Given the description of an element on the screen output the (x, y) to click on. 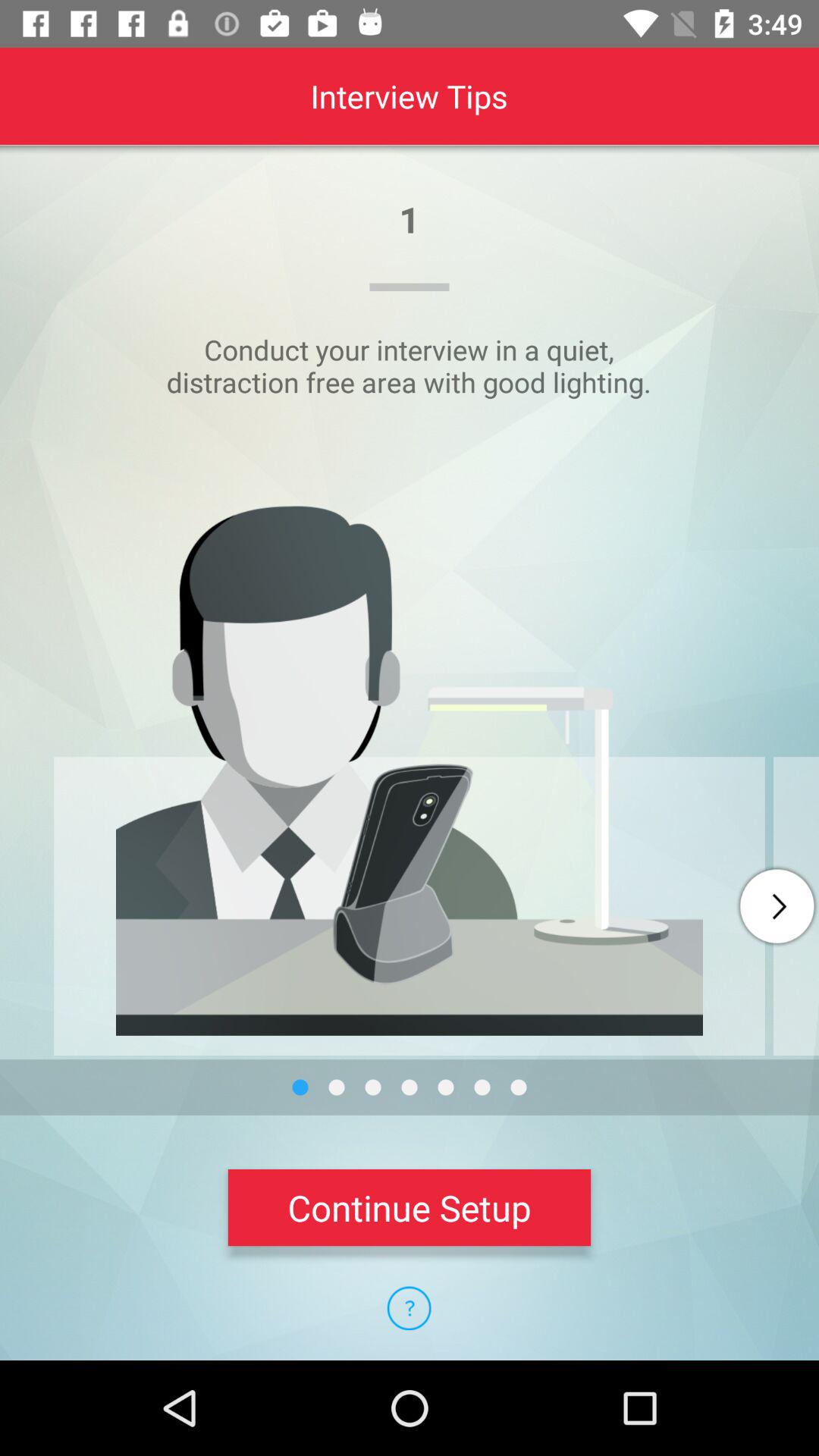
next step (777, 906)
